Given the description of an element on the screen output the (x, y) to click on. 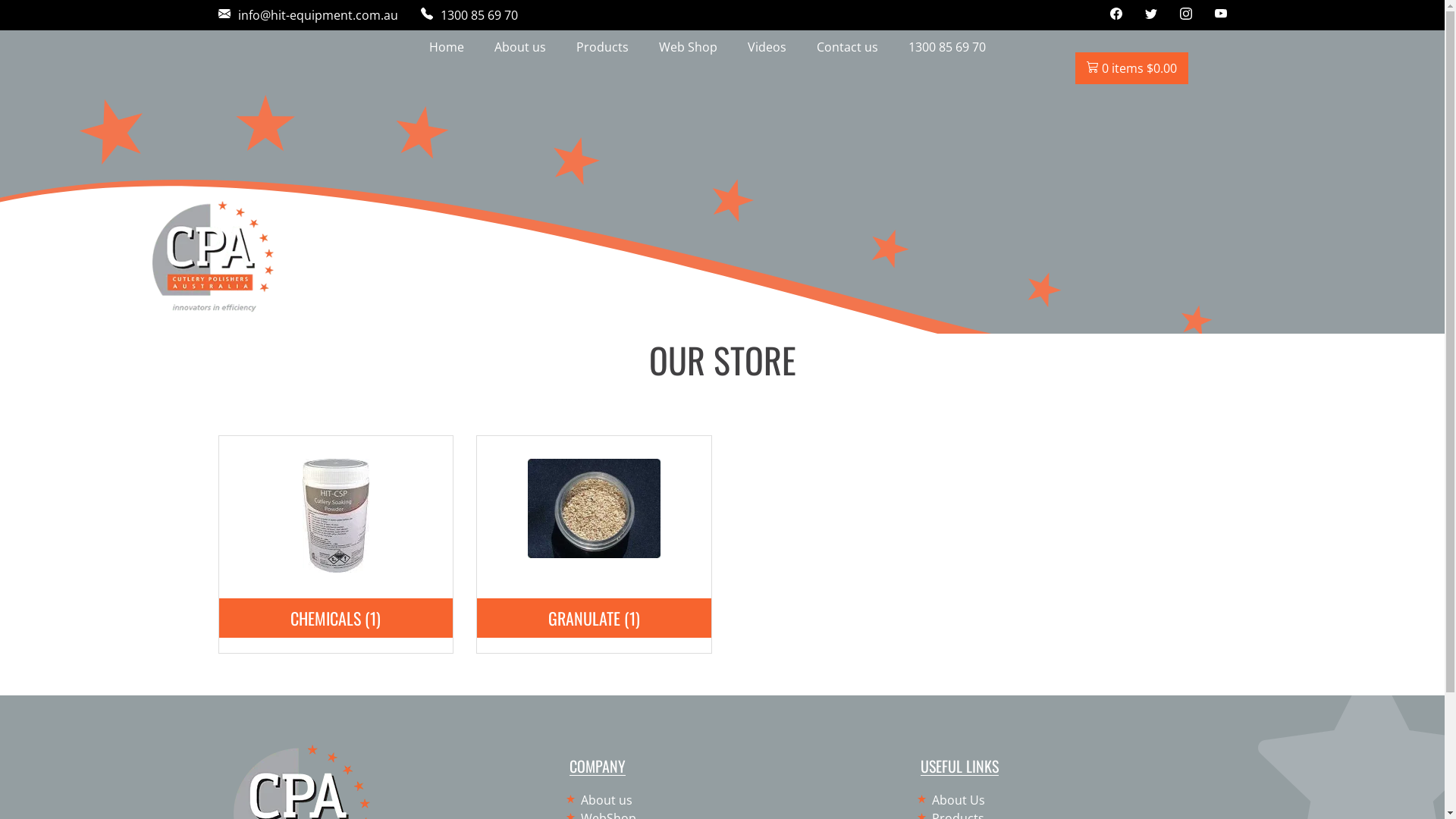
CHEMICALS (1) Element type: text (335, 567)
Products Element type: text (602, 46)
1300 85 69 70 Element type: text (947, 46)
info@hit-equipment.com.au Element type: text (308, 15)
About us Element type: text (520, 46)
About us Element type: text (600, 799)
Web Shop Element type: text (687, 46)
Videos Element type: text (766, 46)
Contact us Element type: text (846, 46)
1300 85 69 70 Element type: text (468, 15)
0 items $0.00 Element type: text (1131, 68)
Home Element type: text (446, 46)
About Us Element type: text (952, 799)
GRANULATE (1) Element type: text (593, 553)
